Given the description of an element on the screen output the (x, y) to click on. 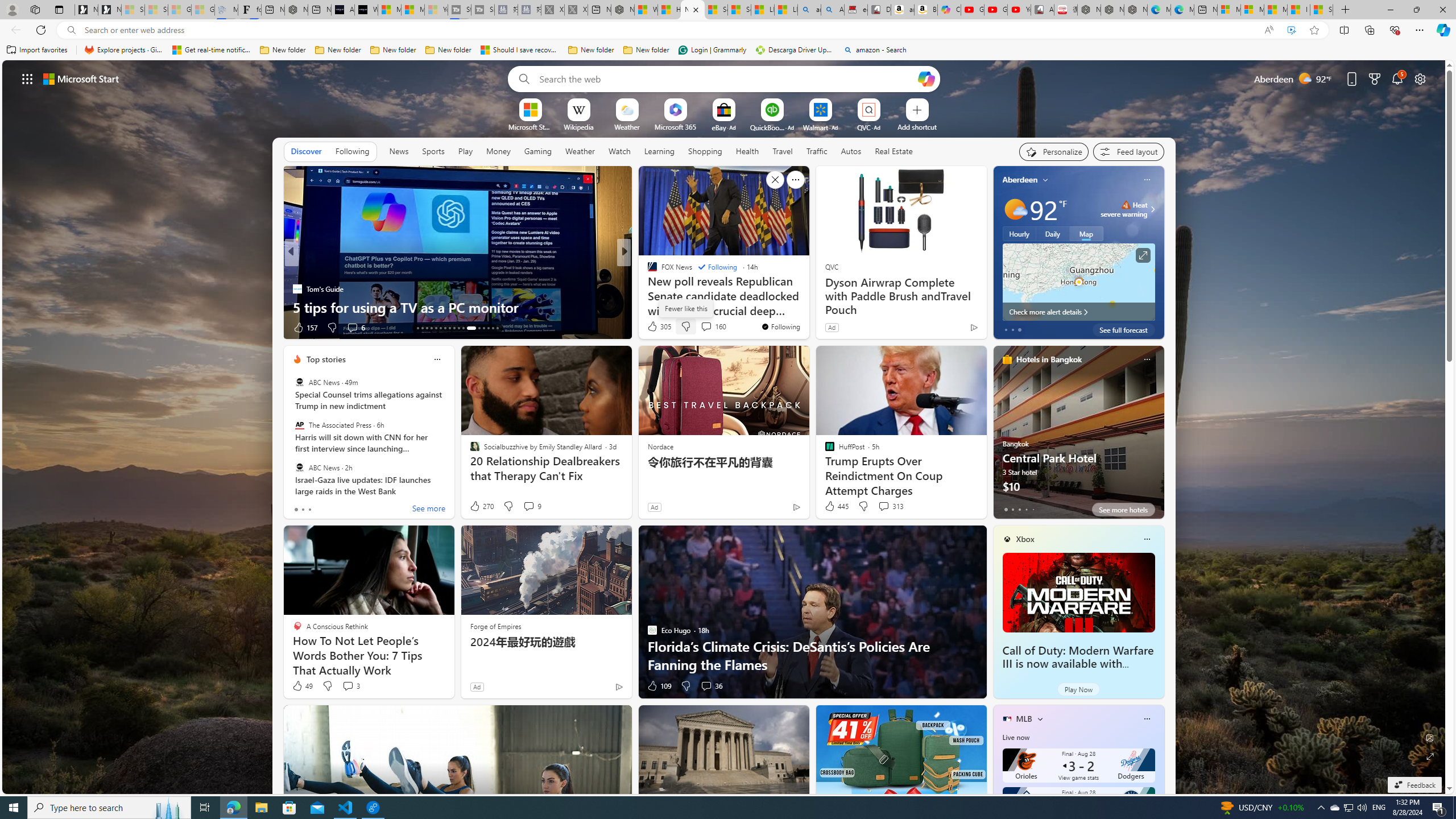
Mostly sunny (1014, 208)
Central Park Hotel (1078, 436)
Expand background (1430, 756)
Hourly (1018, 233)
Microsoft Start (1275, 9)
Discover (306, 151)
Learning (658, 151)
Forge of Empires (495, 625)
Check more alert details (1077, 311)
5 tips for using a TV as a PC monitor (457, 307)
445 Like (835, 505)
Sports (432, 151)
